Given the description of an element on the screen output the (x, y) to click on. 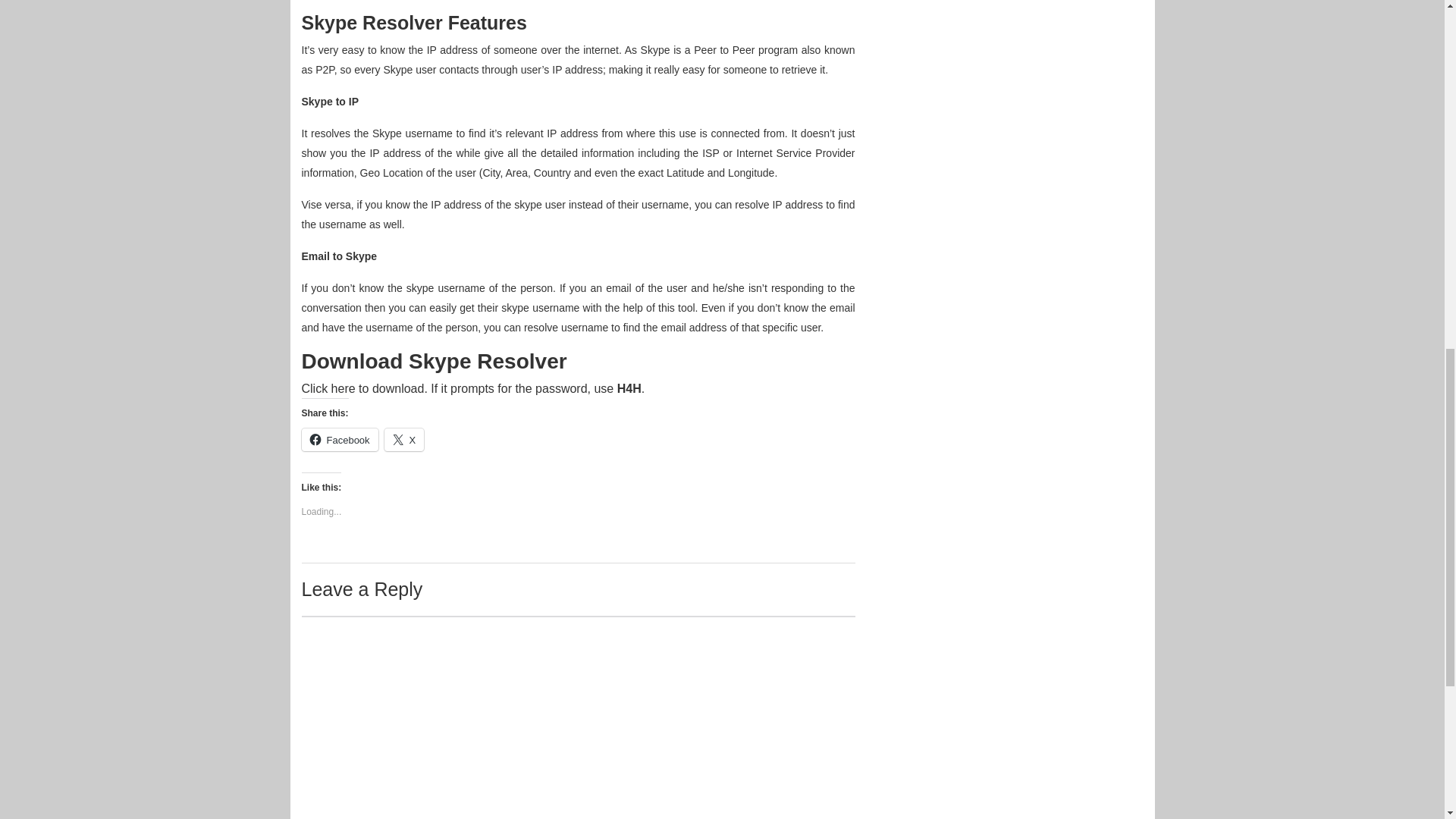
Comment Form (578, 717)
resolve IP address (778, 204)
Click to share on X (404, 439)
Click to share on Facebook (339, 439)
Click here (328, 388)
Facebook (339, 439)
X (404, 439)
